Given the description of an element on the screen output the (x, y) to click on. 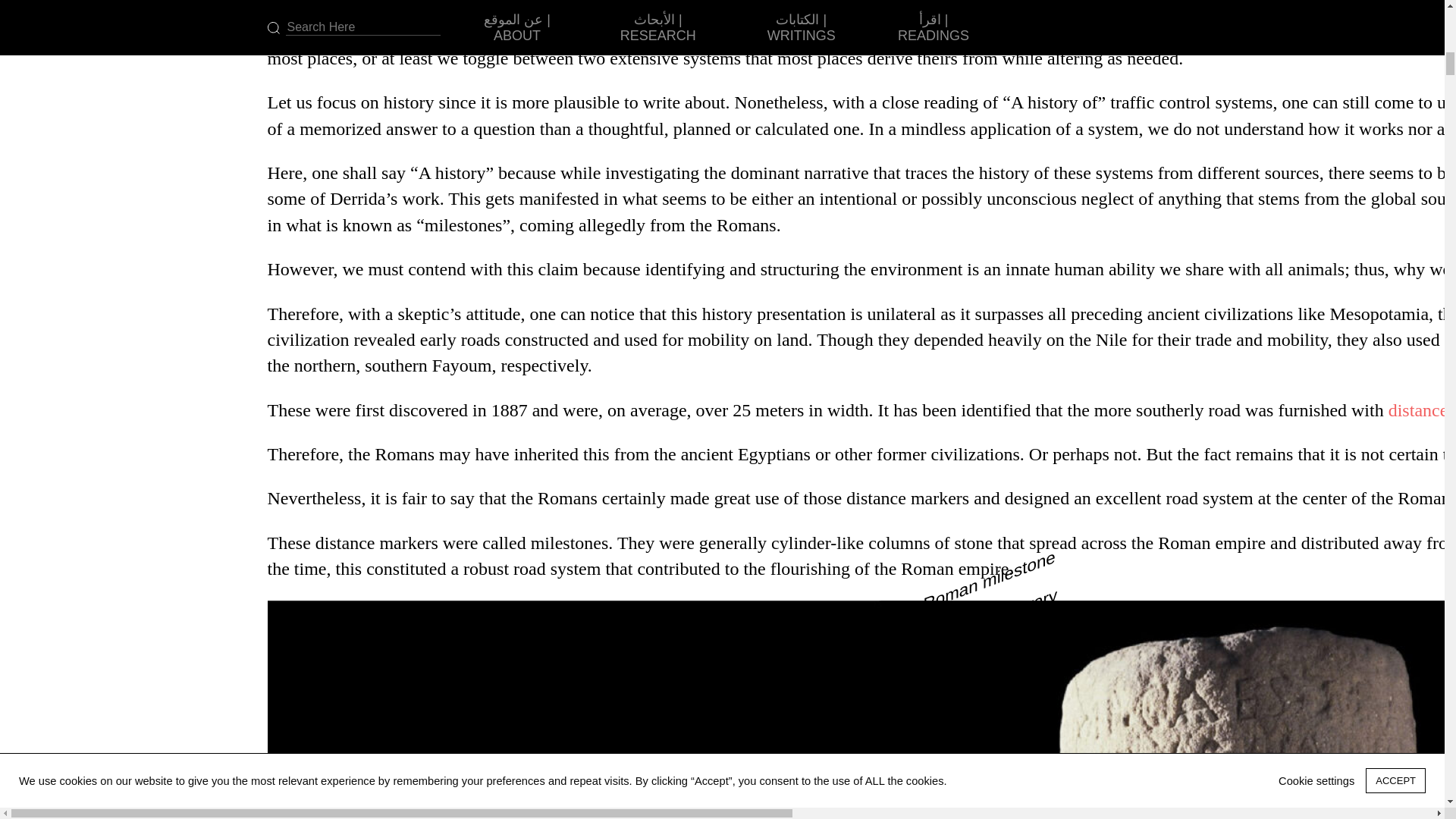
distance markers (1422, 410)
